Given the description of an element on the screen output the (x, y) to click on. 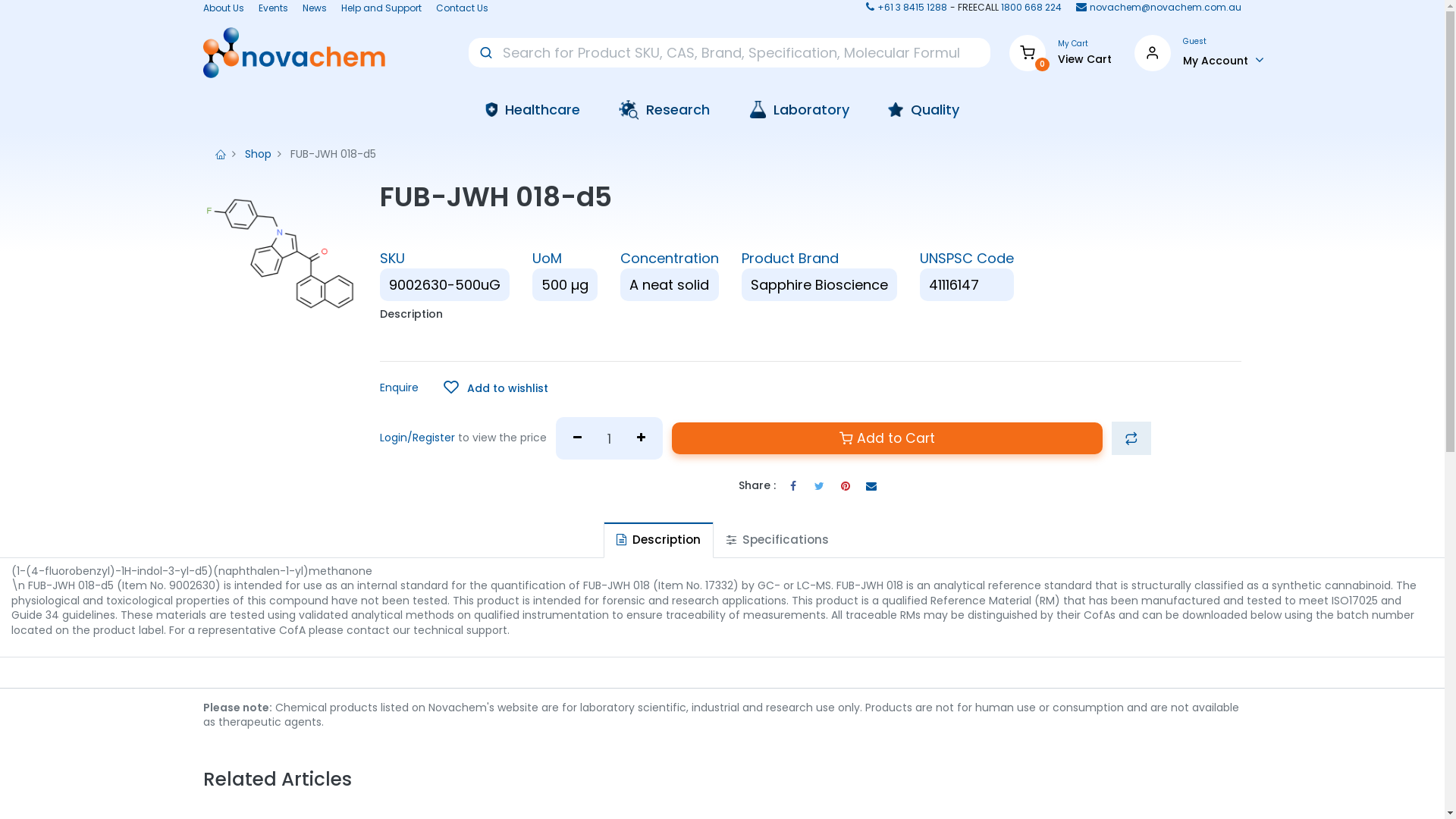
0 Element type: text (1027, 51)
My Account Element type: text (1223, 59)
Novachem Reference Standards Australia Element type: hover (294, 52)
Add to Cart Element type: text (886, 438)
About Us Element type: text (223, 8)
Remove one Element type: hover (577, 437)
Description Element type: text (658, 539)
Contact Us Element type: text (462, 8)
Research Element type: text (664, 109)
Laboratory Element type: text (798, 109)
Add one Element type: hover (641, 437)
News Element type: text (314, 8)
Healthcare Element type: text (532, 109)
Login/Register Element type: text (417, 437)
Specifications Element type: text (776, 539)
Events Element type: text (273, 8)
Add to wishlist Element type: text (495, 387)
Help and Support Element type: text (381, 8)
Quality Element type: text (923, 109)
View Cart Element type: text (1084, 59)
Shop Element type: text (257, 153)
